Given the description of an element on the screen output the (x, y) to click on. 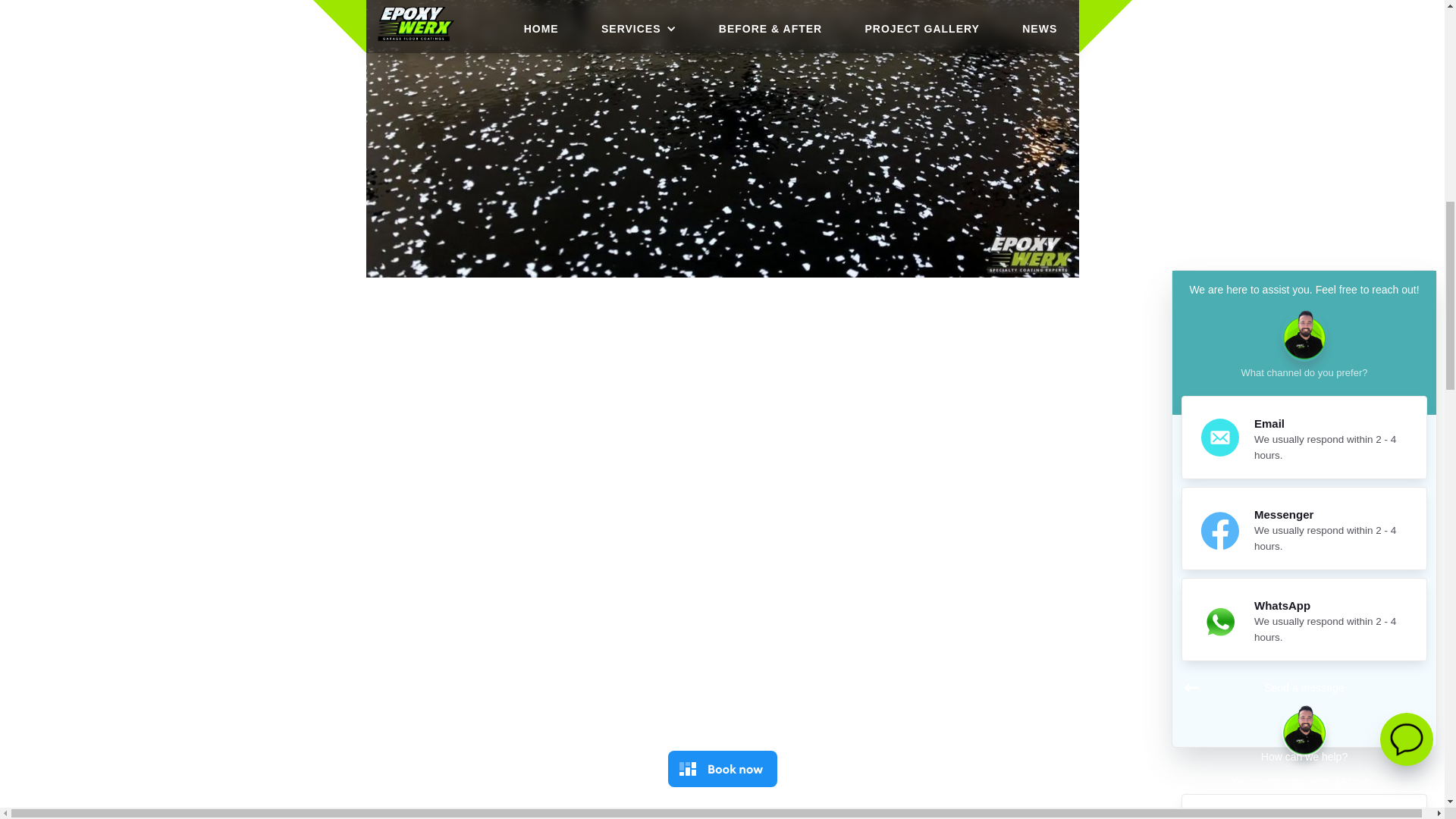
Send my message (1308, 276)
Send my message (1308, 276)
